Given the description of an element on the screen output the (x, y) to click on. 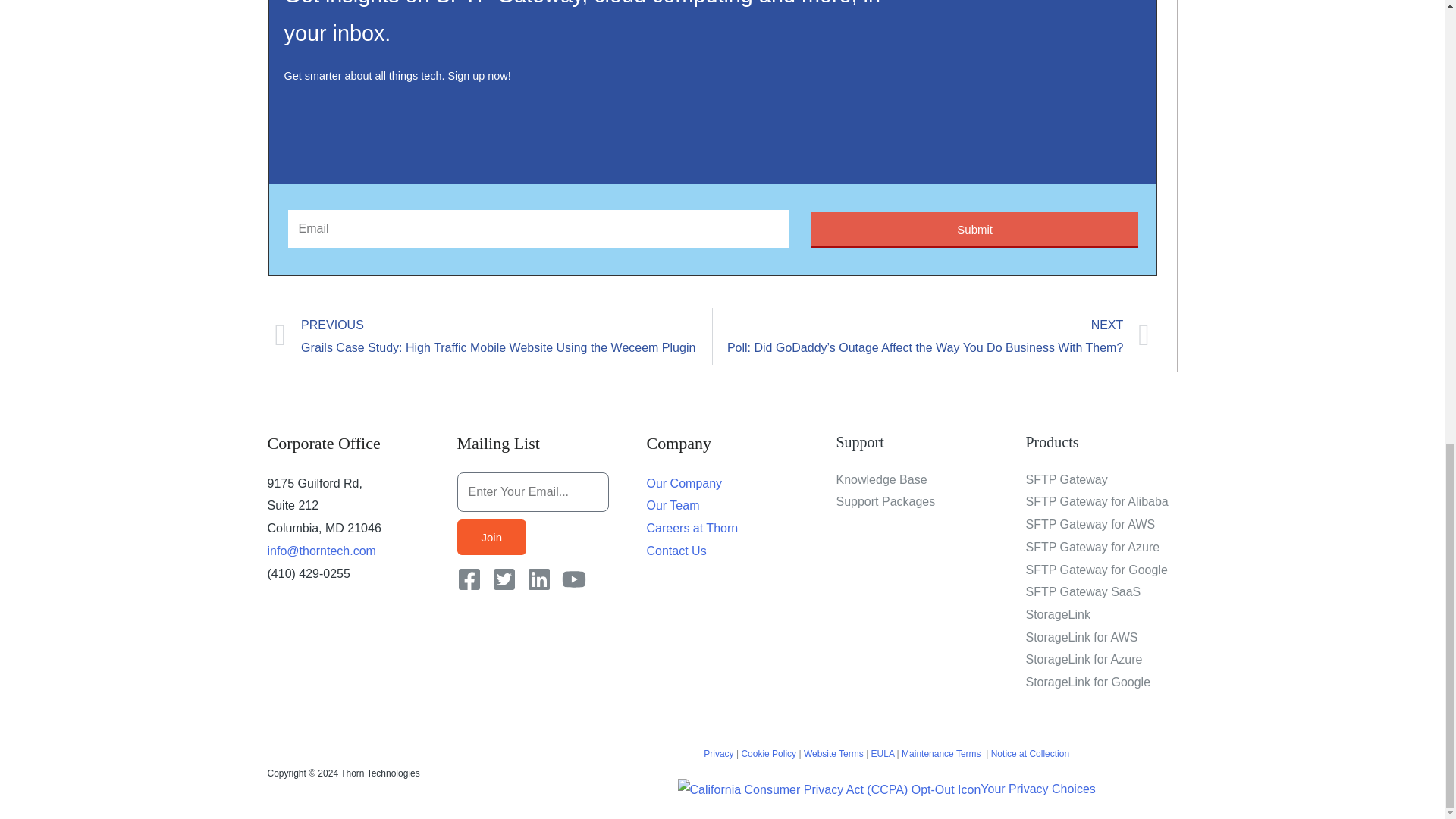
Submit (974, 230)
